Given the description of an element on the screen output the (x, y) to click on. 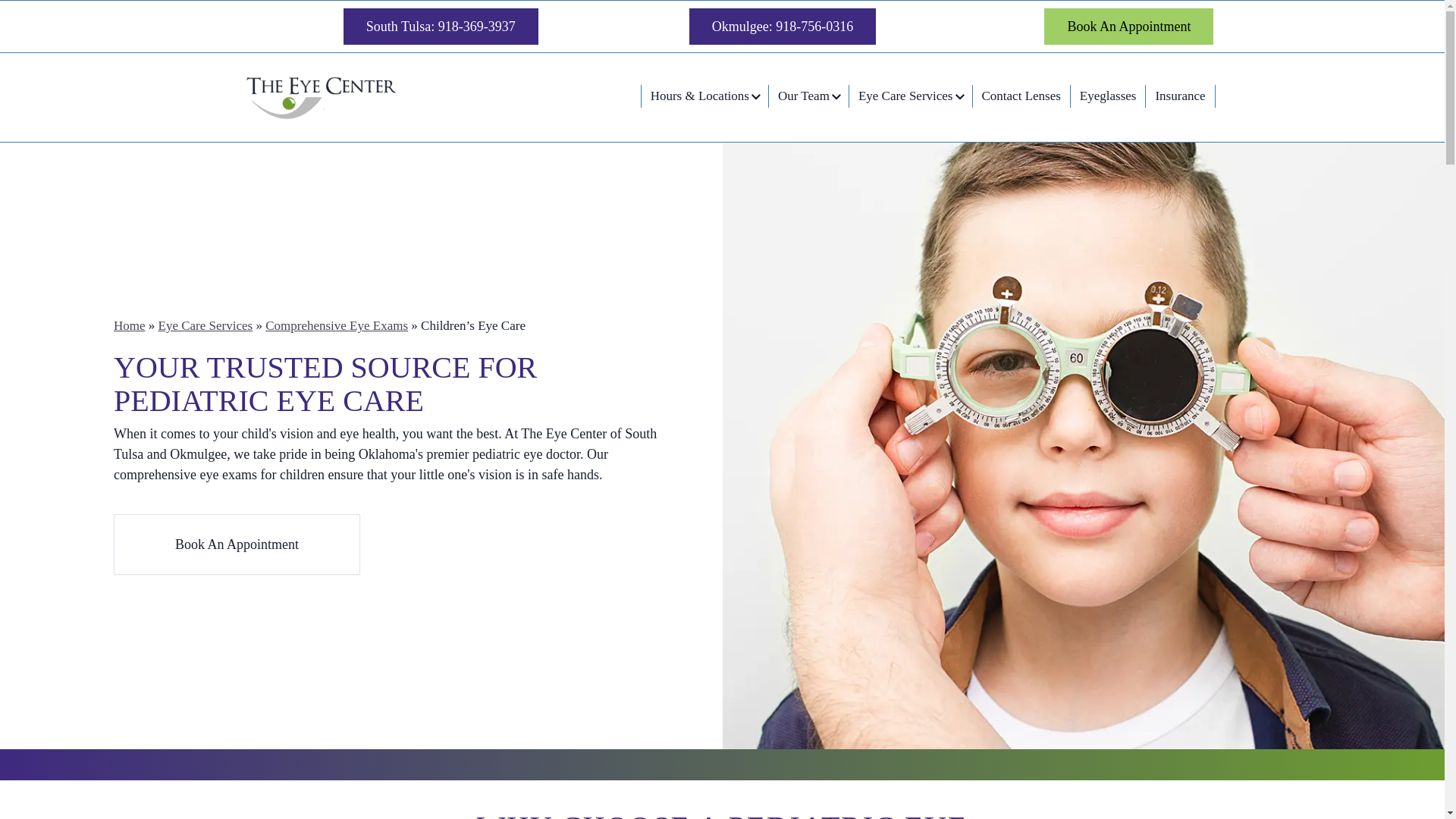
Contact Lenses (1020, 96)
Okmulgee: 918-756-0316 (782, 26)
Eyeglasses (1107, 96)
Comprehensive Eye Exams (335, 325)
Home (129, 325)
Book An Appointment (1127, 26)
South Tulsa: 918-369-3937 (440, 26)
Eye Care Services (205, 325)
Our Team (808, 96)
Insurance (1179, 96)
Eye Care Services (910, 96)
